Given the description of an element on the screen output the (x, y) to click on. 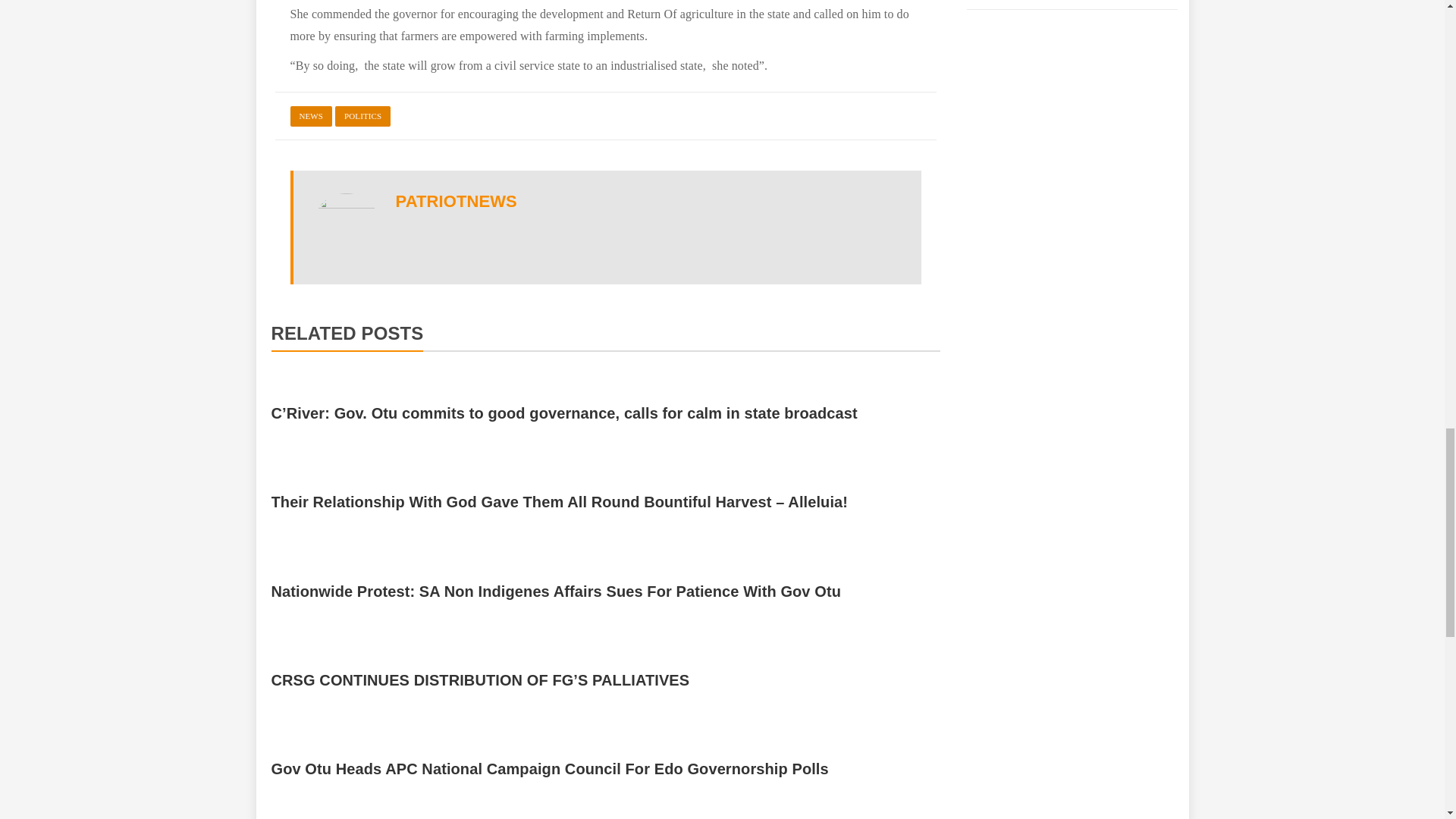
NEWS (310, 116)
PATRIOTNEWS (456, 200)
POLITICS (362, 116)
